Given the description of an element on the screen output the (x, y) to click on. 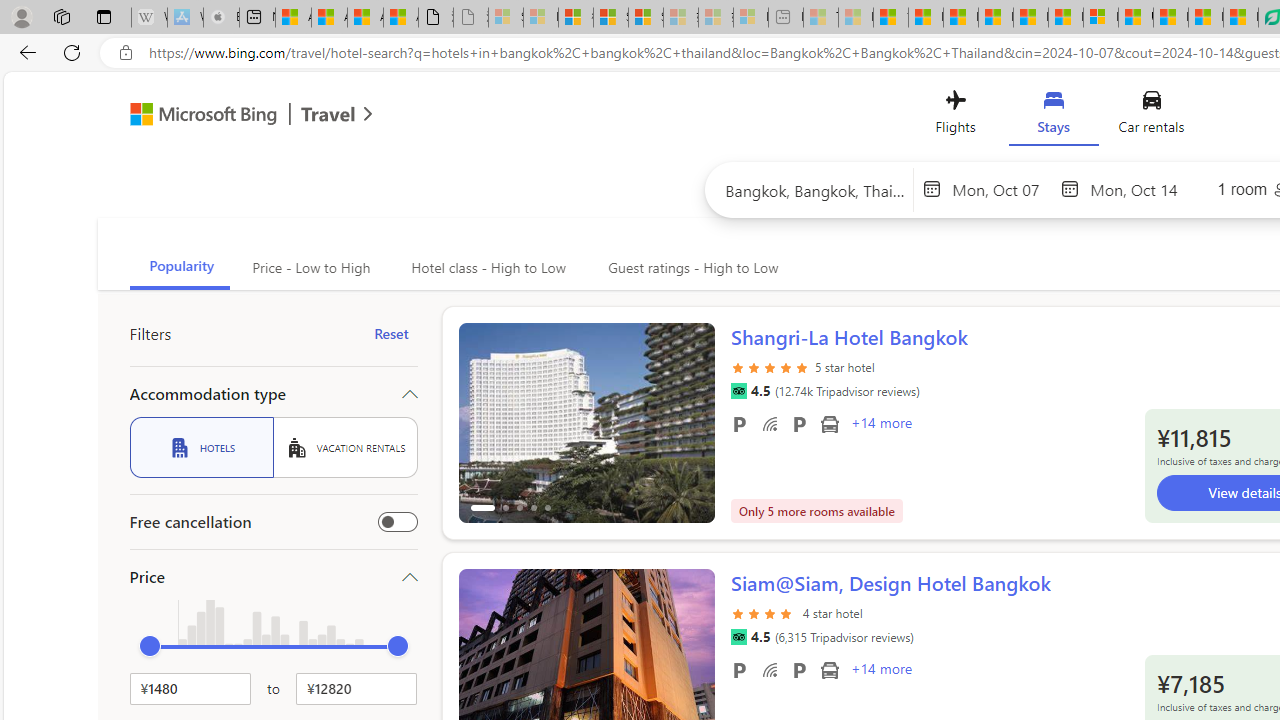
Popularity (179, 268)
Marine life - MSN - Sleeping (855, 17)
min  (149, 645)
ScrollRight (690, 660)
Accommodation type (273, 393)
Stays (1053, 116)
+14 More Amenities (880, 671)
